Given the description of an element on the screen output the (x, y) to click on. 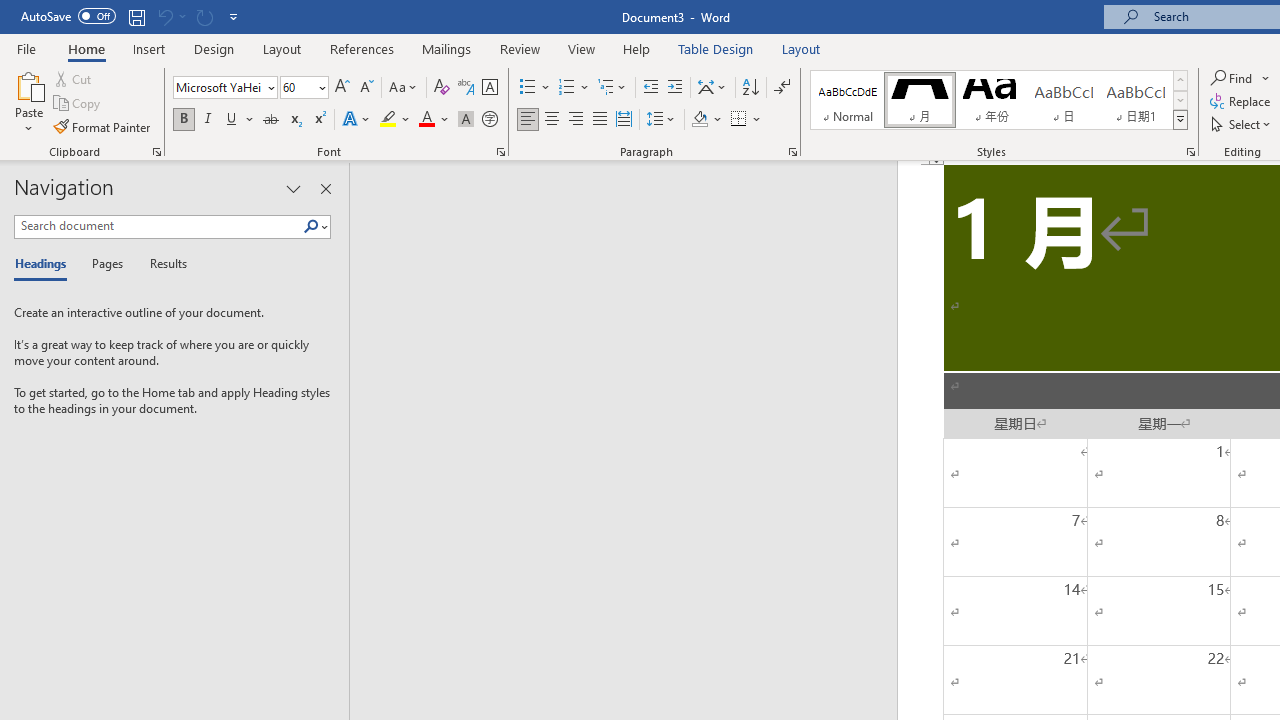
Font Color RGB(255, 0, 0) (426, 119)
Can't Repeat (204, 15)
